Given the description of an element on the screen output the (x, y) to click on. 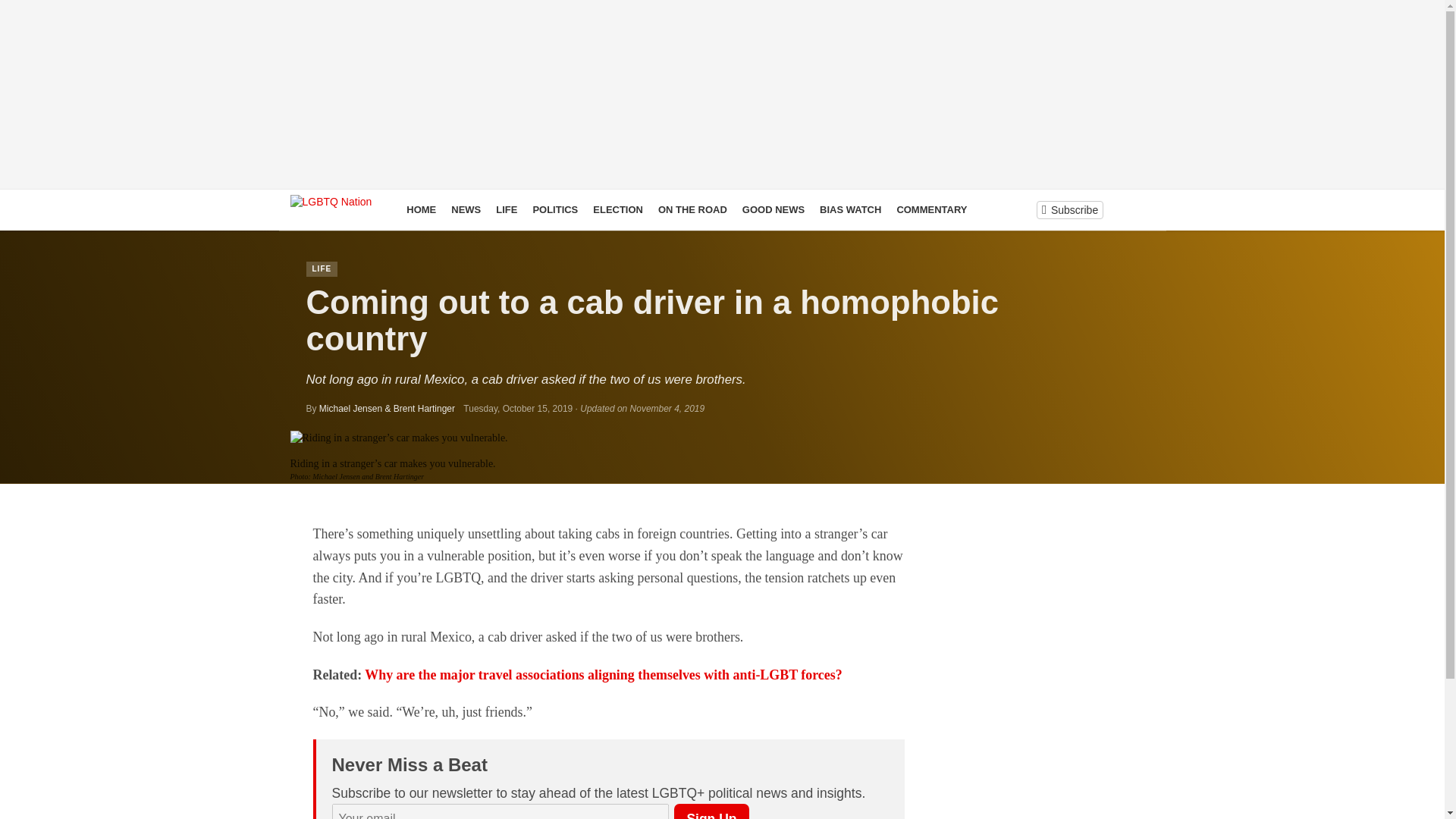
Sign Up (711, 811)
COMMENTARY (931, 209)
ON THE ROAD (692, 209)
LIFE (321, 268)
Subscribe (1069, 209)
tbilisi-cab-driver (397, 437)
LIFE (505, 209)
GOOD NEWS (773, 209)
POLITICS (554, 209)
